Given the description of an element on the screen output the (x, y) to click on. 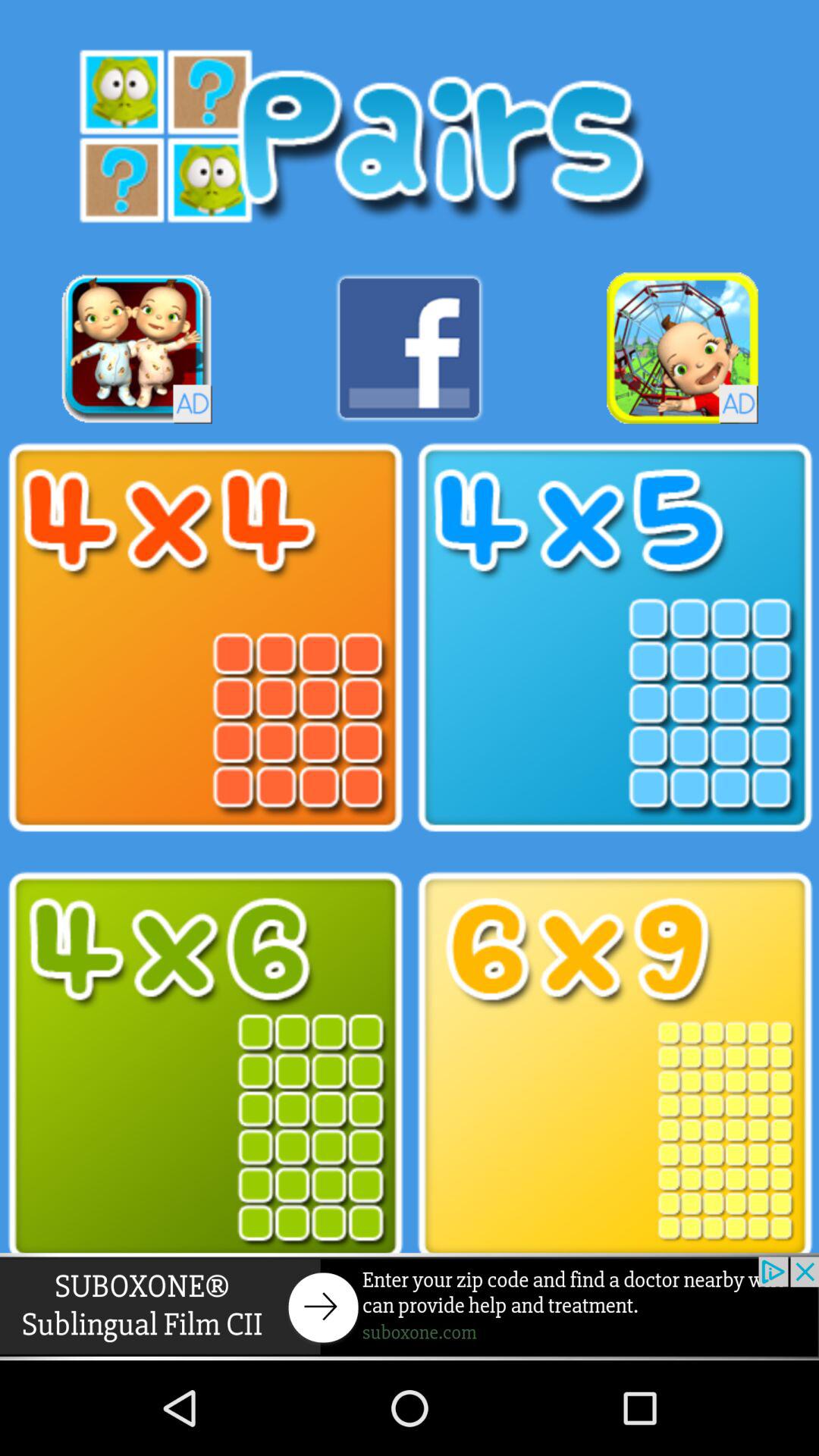
facebook (409, 347)
